Given the description of an element on the screen output the (x, y) to click on. 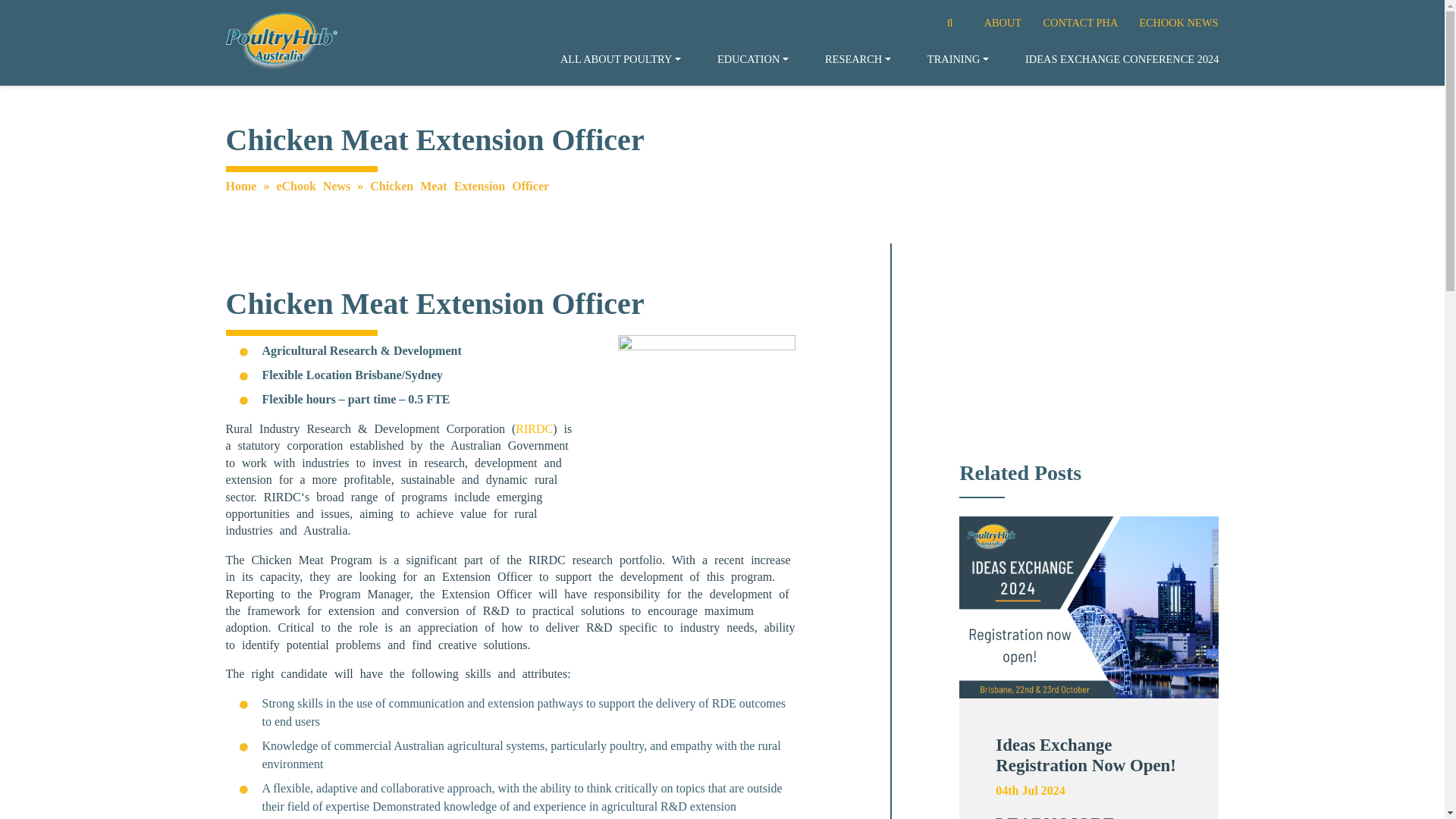
Poultry Hub Australia (281, 41)
All About Poultry (619, 59)
Search (930, 22)
